Given the description of an element on the screen output the (x, y) to click on. 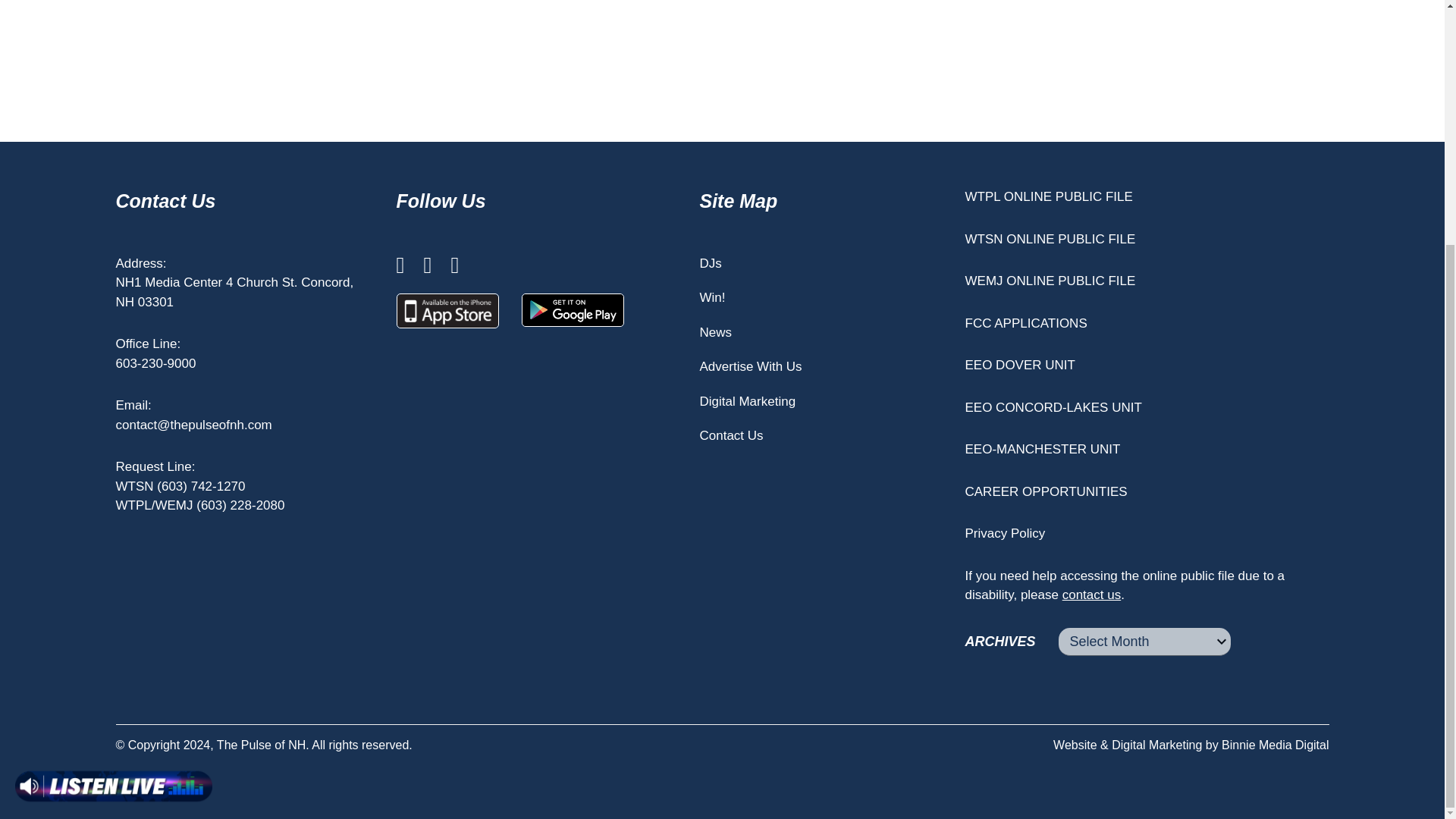
App Store (447, 310)
